Given the description of an element on the screen output the (x, y) to click on. 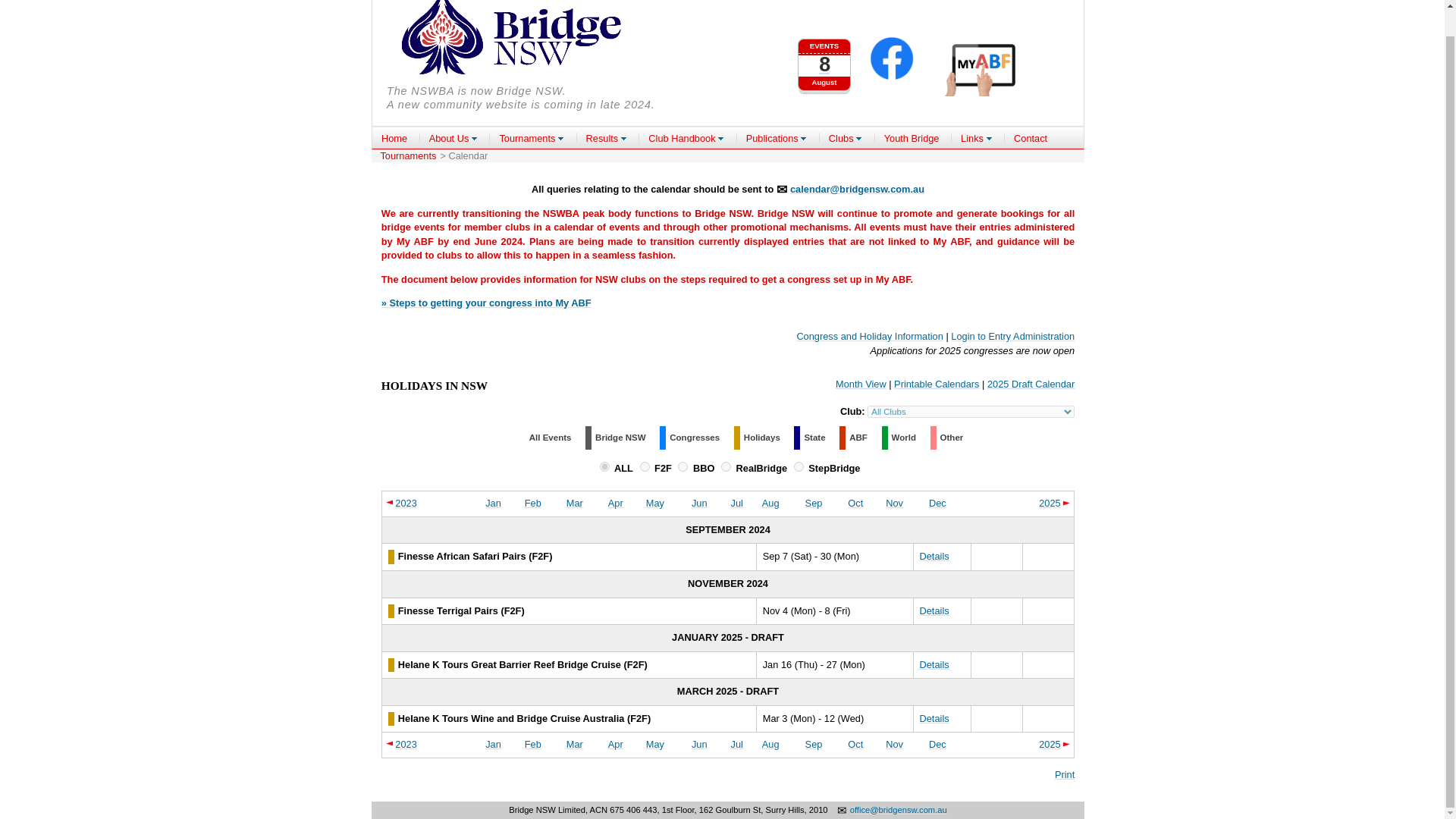
Club Handbook (686, 138)
Jun 2024 (699, 502)
Find us on Facebook (891, 60)
Publications (776, 138)
Login to Entry Administration (1012, 336)
May (822, 57)
Mar (654, 502)
Links (574, 502)
2 (976, 138)
